Given the description of an element on the screen output the (x, y) to click on. 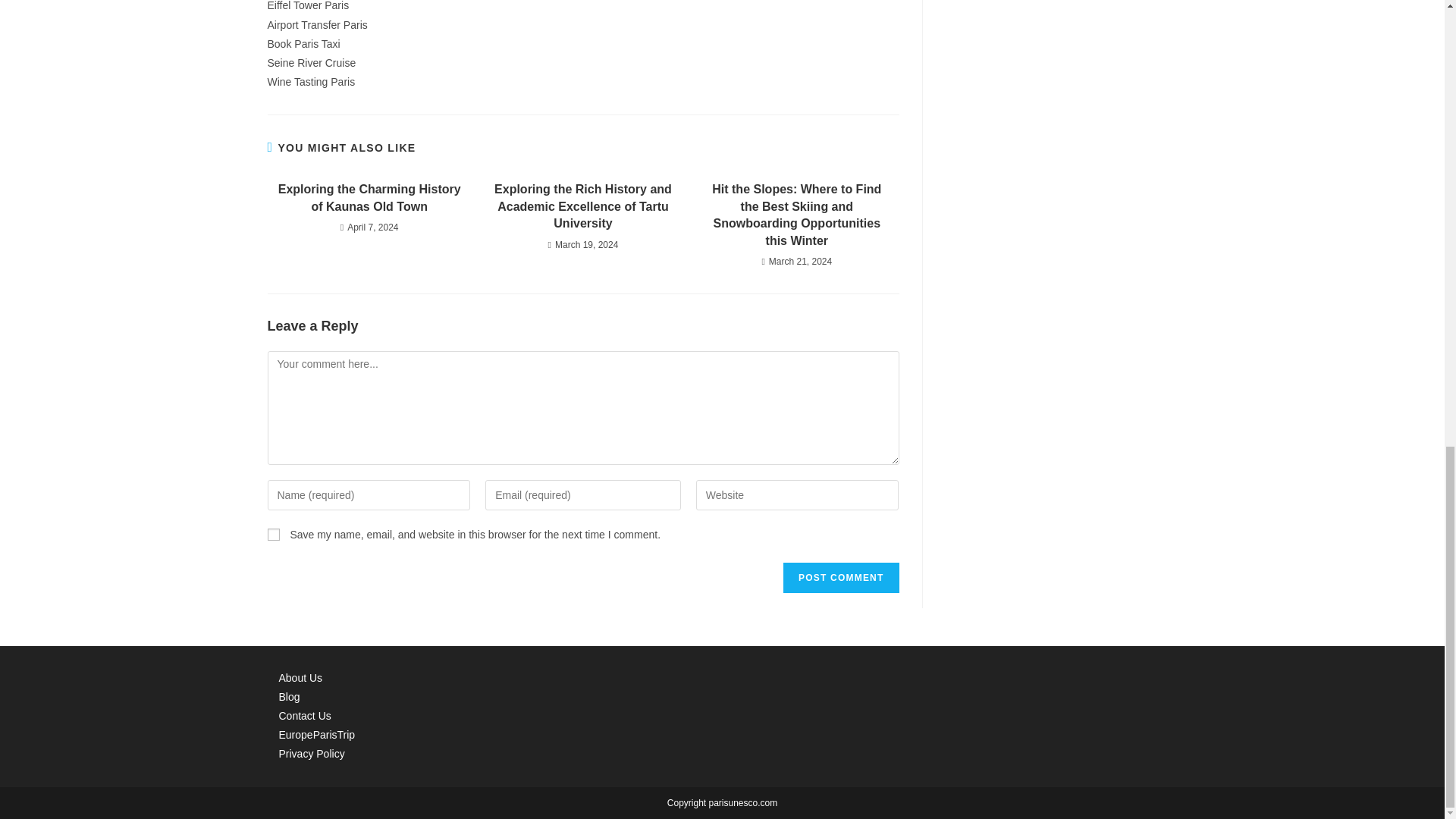
Exploring the Charming History of Kaunas Old Town (368, 197)
Privacy Policy (312, 753)
About Us (301, 677)
EuropeParisTrip (317, 734)
Post Comment (840, 577)
Blog (289, 696)
Contact Us (305, 715)
yes (272, 534)
Post Comment (840, 577)
